Given the description of an element on the screen output the (x, y) to click on. 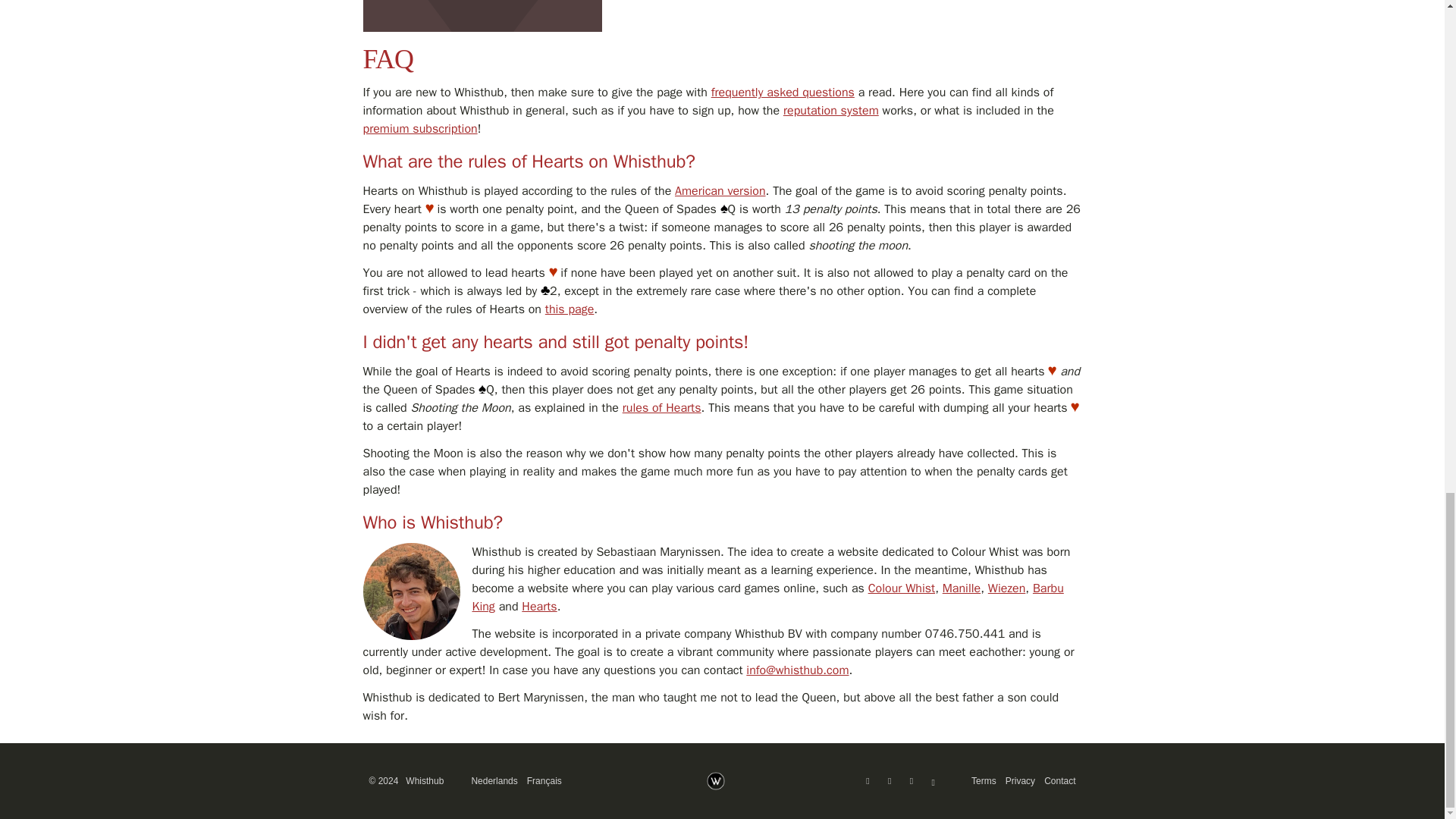
FAQ (387, 59)
rules of Hearts (662, 407)
this page (569, 309)
What are the rules of Hearts on Whisthub? (528, 160)
frequently asked questions (782, 92)
Hearts (538, 606)
premium subscription (419, 128)
Wiezen (1007, 588)
American version (720, 191)
Barbu King (766, 597)
